Given the description of an element on the screen output the (x, y) to click on. 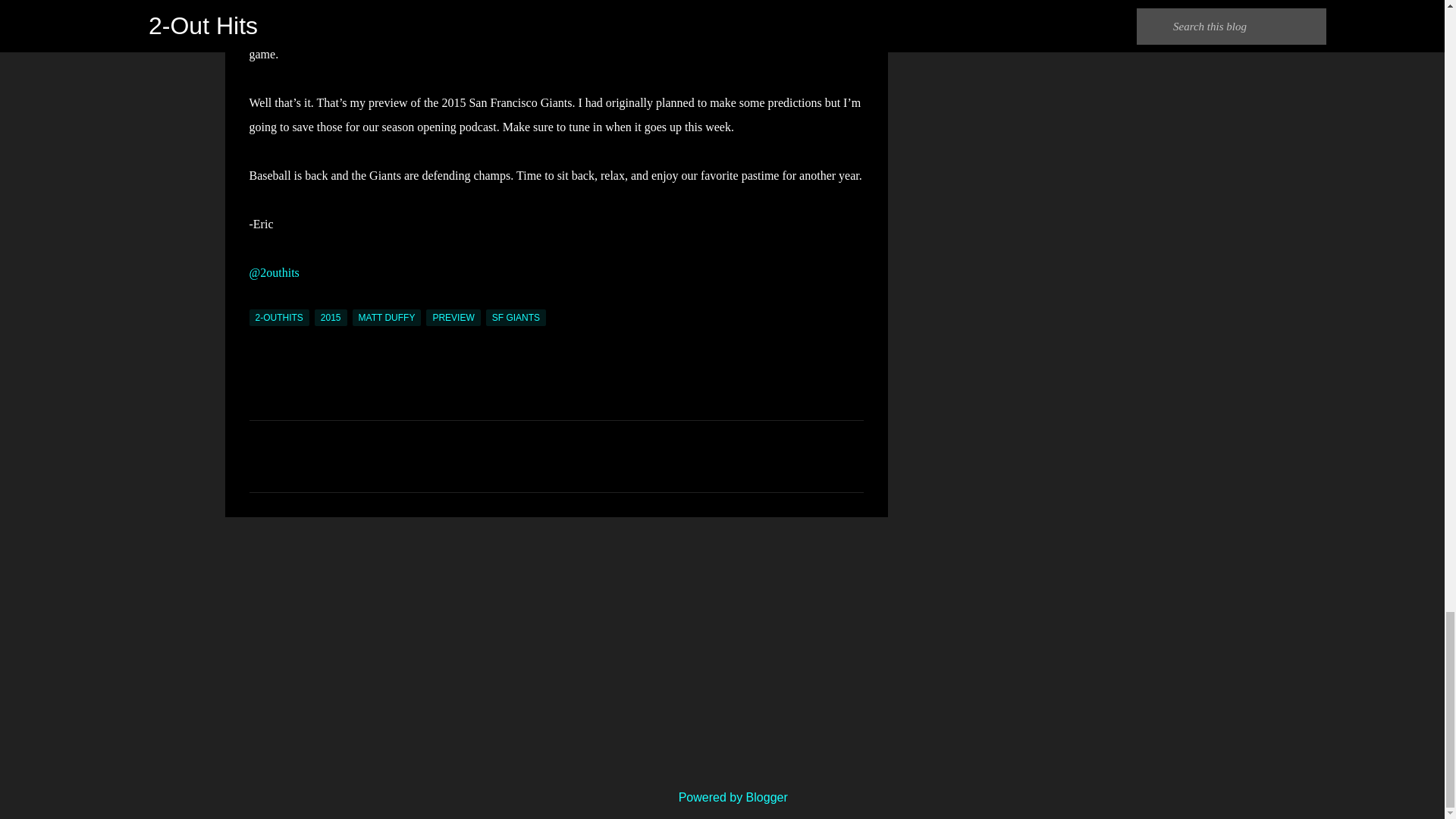
2015 (330, 317)
PREVIEW (453, 317)
Powered by Blogger (721, 797)
SF GIANTS (516, 317)
Email Post (257, 299)
MATT DUFFY (387, 317)
2-OUTHITS (278, 317)
